Given the description of an element on the screen output the (x, y) to click on. 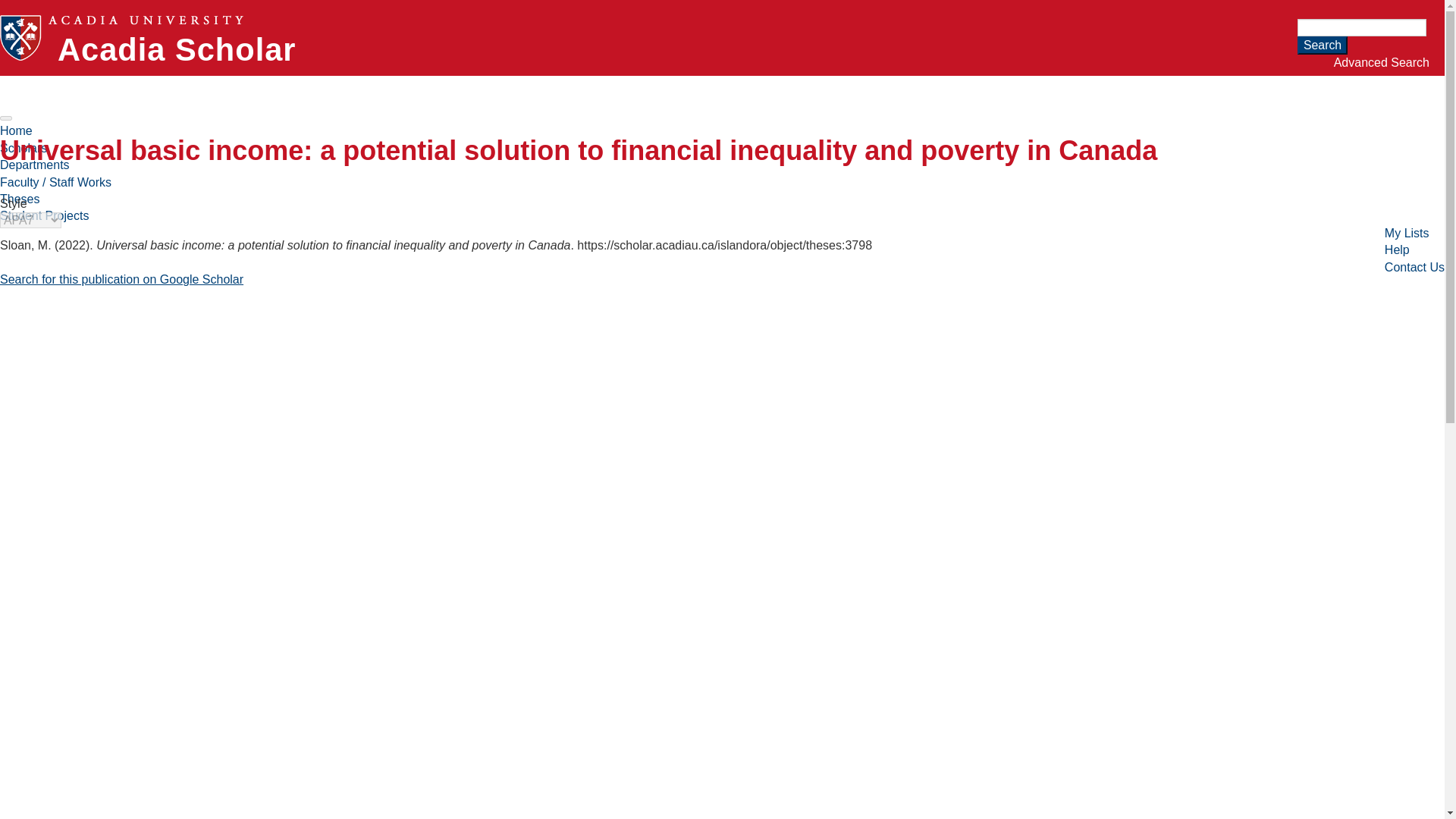
Advanced Search (1381, 62)
Search for this publication on Google Scholar (121, 278)
Choose the citation style. (30, 220)
Help (1396, 249)
Student Projects (44, 215)
Acadia Scholar (177, 49)
Departments (34, 164)
Scholars (23, 148)
My Lists (1406, 233)
Search (1322, 45)
Theses (19, 198)
Home (16, 130)
Home (177, 49)
